Given the description of an element on the screen output the (x, y) to click on. 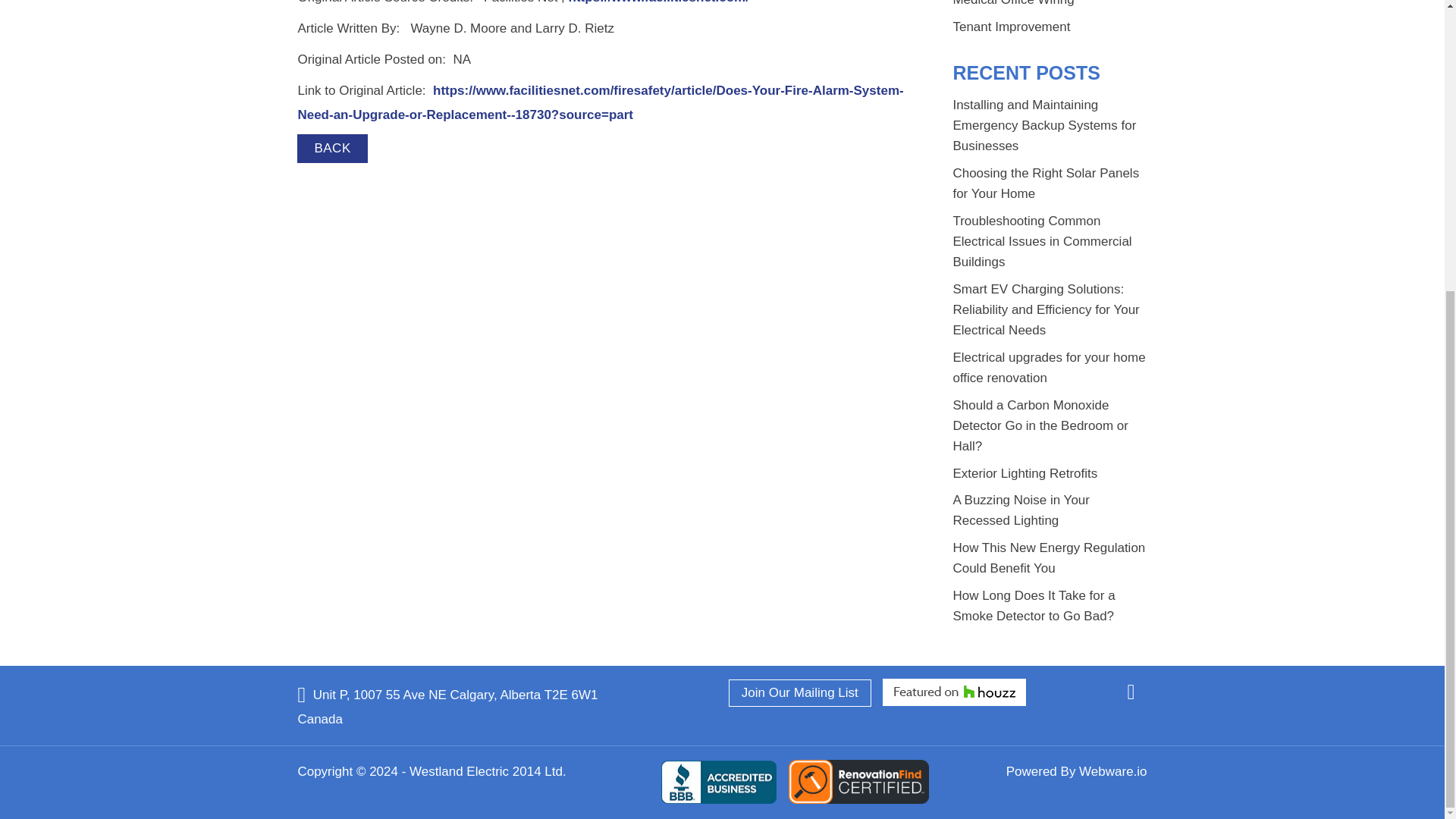
Tenant Improvement (1011, 26)
Medical Office Wiring (1013, 3)
BACK (331, 148)
